Given the description of an element on the screen output the (x, y) to click on. 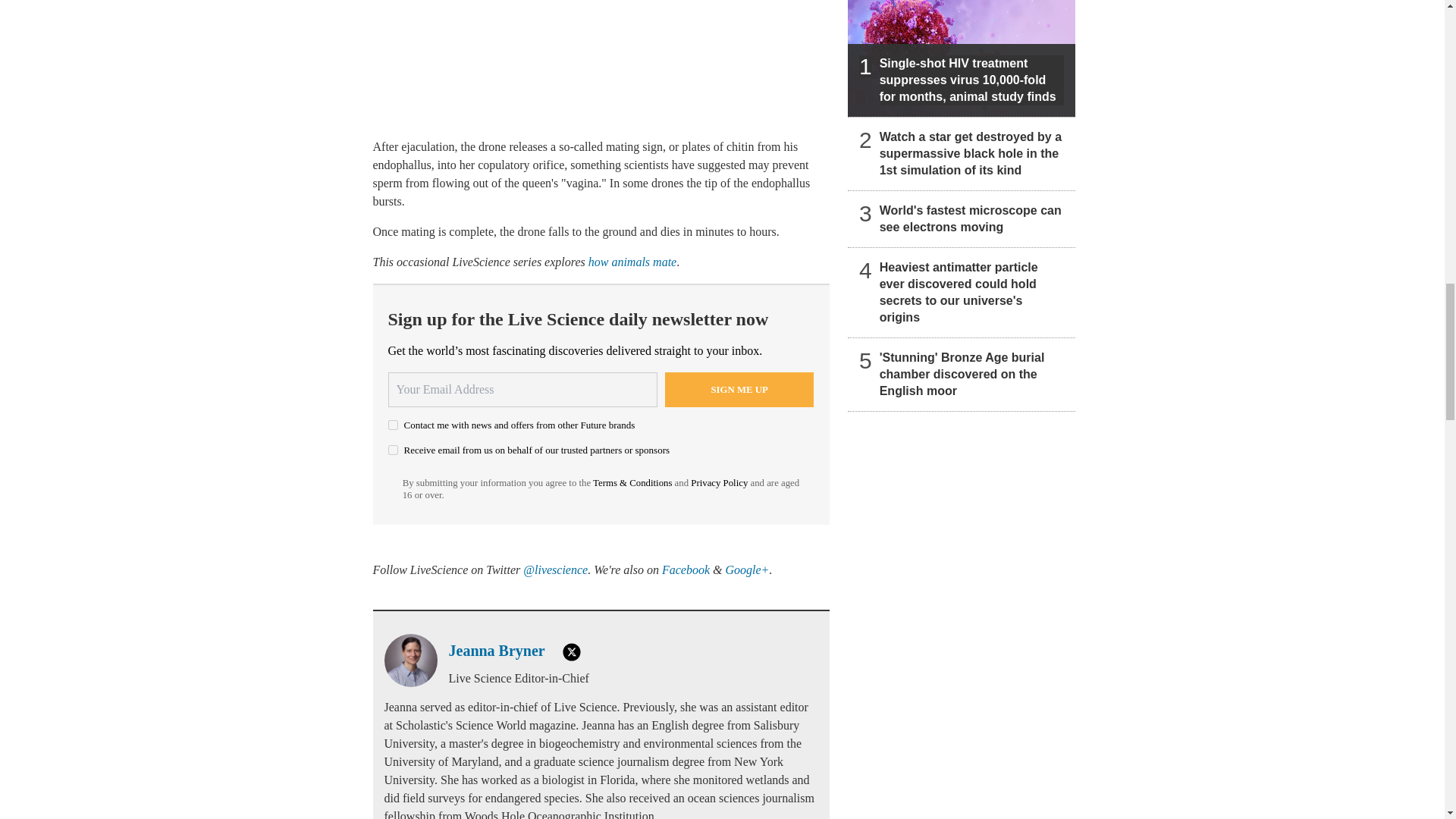
Sign me up (739, 389)
on (392, 424)
on (392, 450)
